Given the description of an element on the screen output the (x, y) to click on. 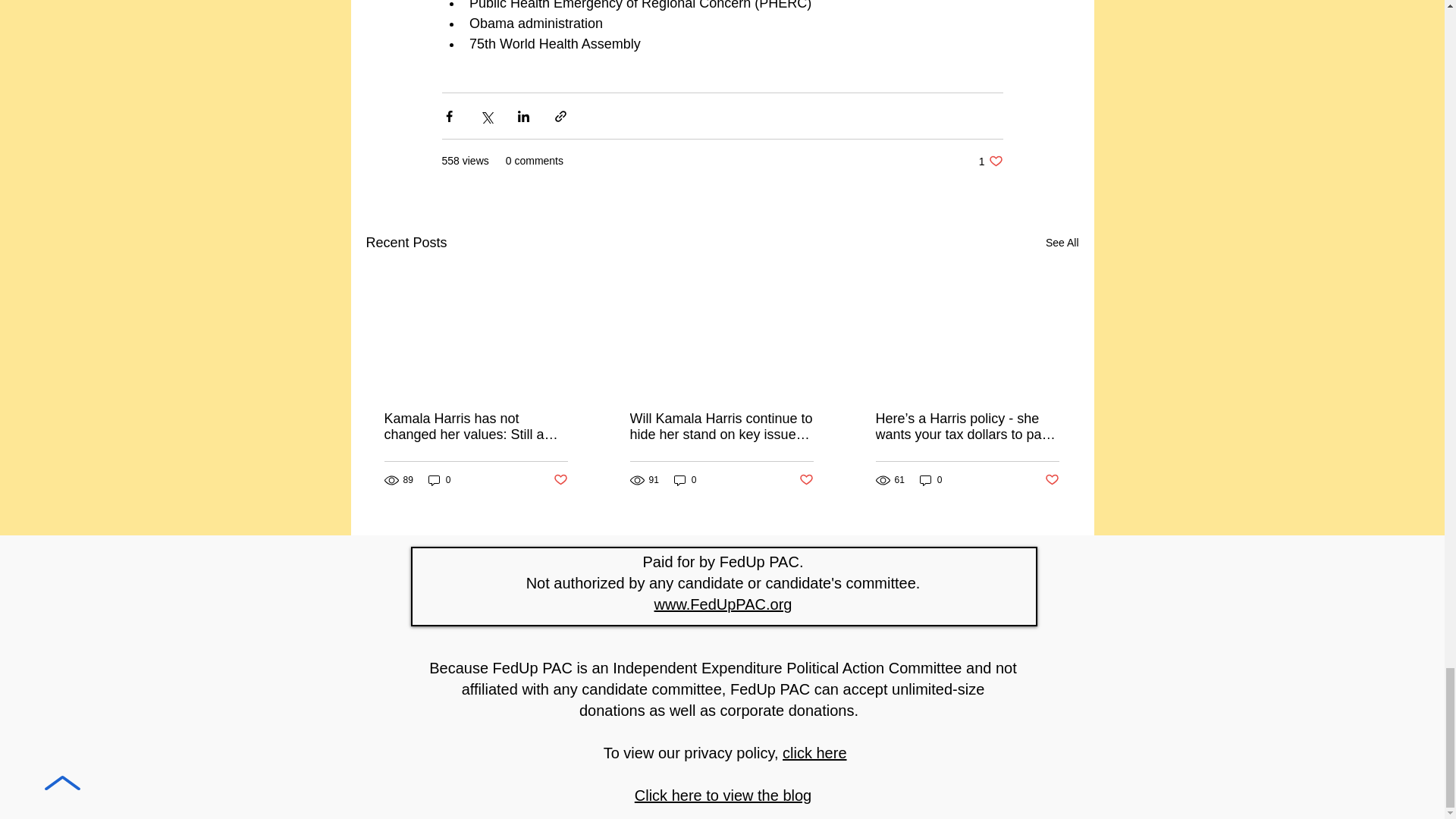
0 (439, 480)
Post not marked as liked (560, 480)
See All (1061, 242)
